Given the description of an element on the screen output the (x, y) to click on. 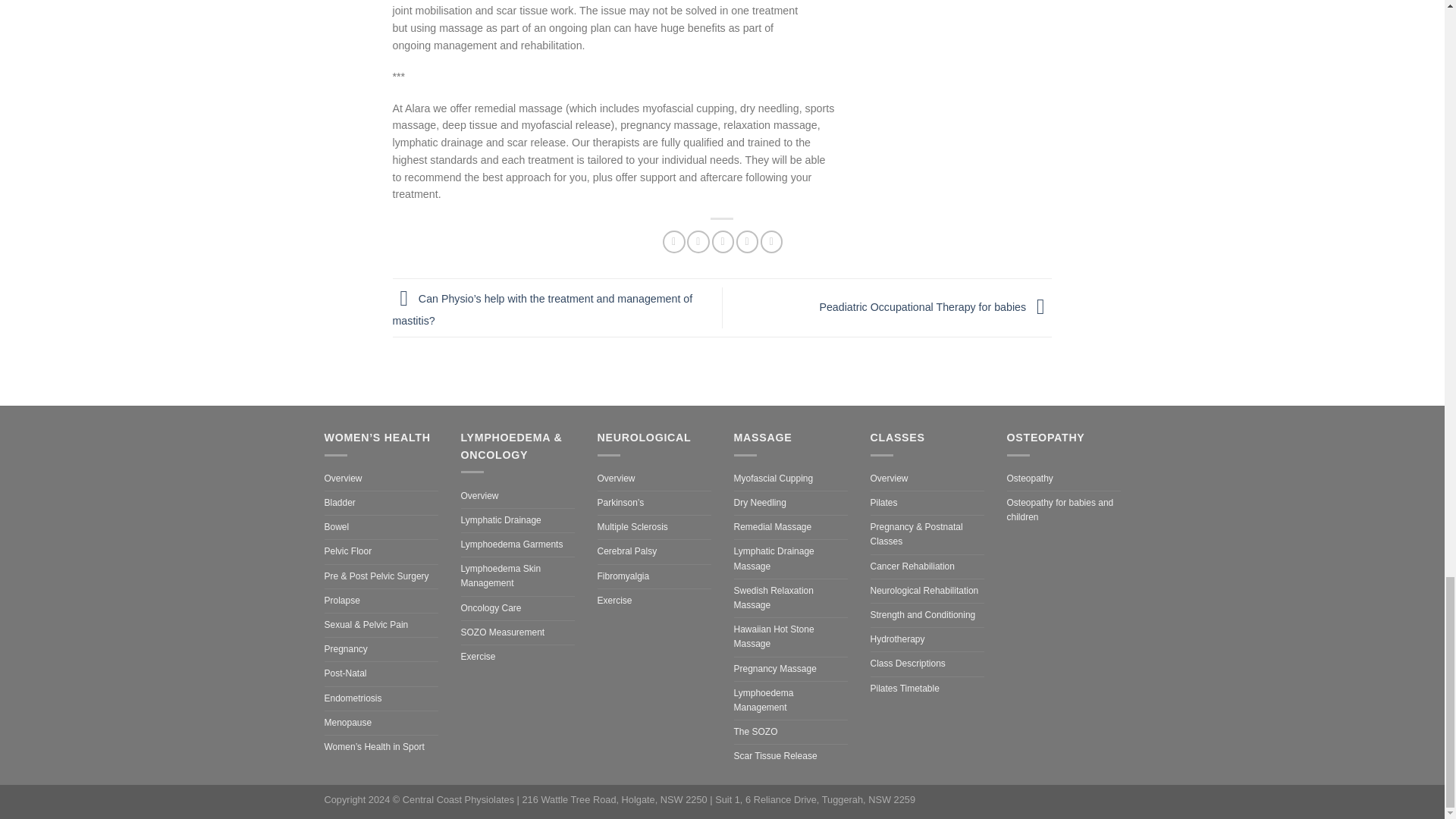
Share on LinkedIn (771, 241)
Share on Twitter (698, 241)
Pin on Pinterest (747, 241)
Share on Facebook (673, 241)
Email to a Friend (722, 241)
